Given the description of an element on the screen output the (x, y) to click on. 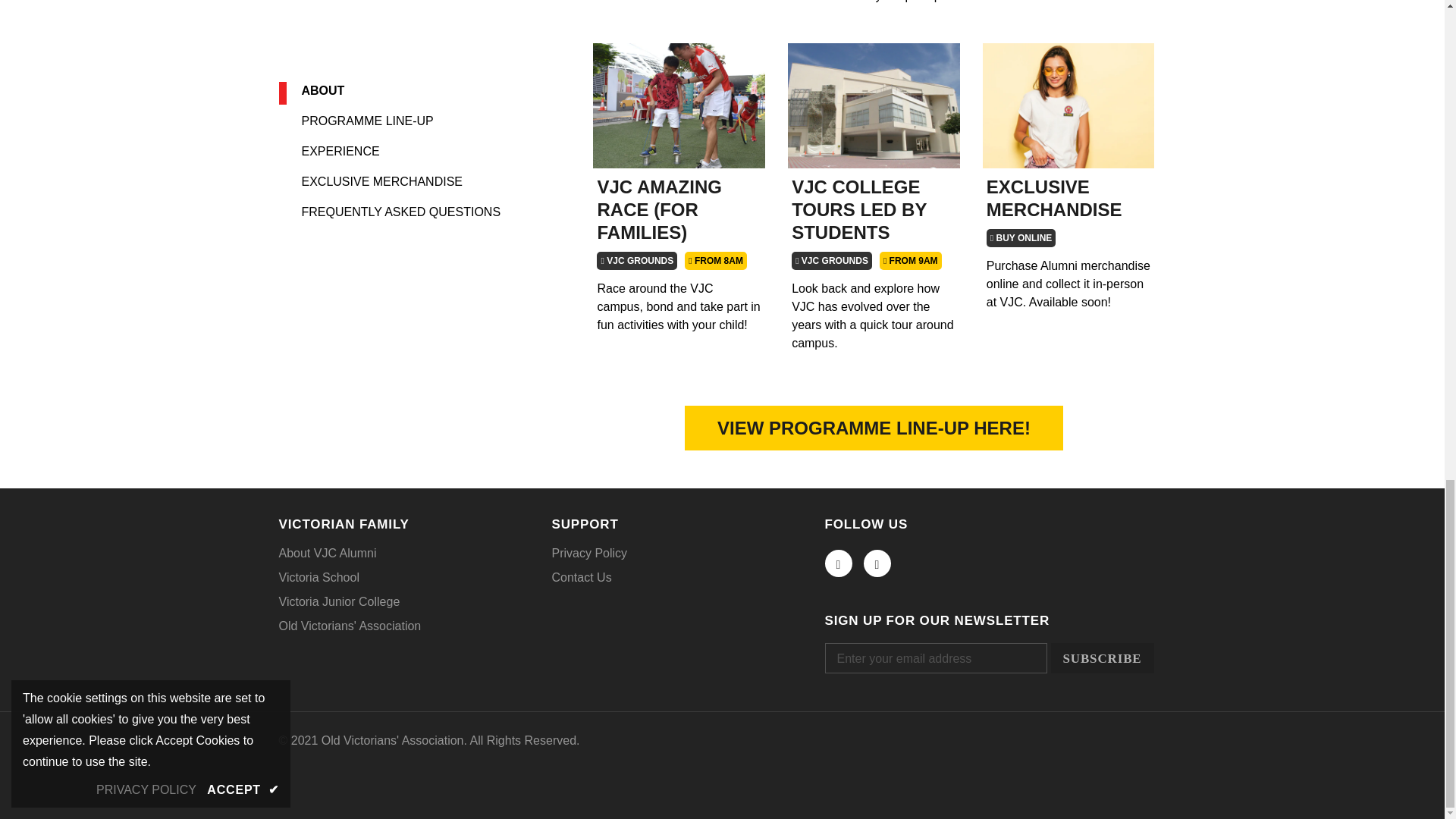
Privacy Policy (589, 553)
About VJC Alumni (328, 553)
Victoria School (319, 577)
Instagram (876, 563)
Facebook (838, 563)
Contact Us (581, 577)
Old Victorians' Association (350, 626)
 Victoria Junior College (339, 601)
Subscribe (1102, 657)
